Given the description of an element on the screen output the (x, y) to click on. 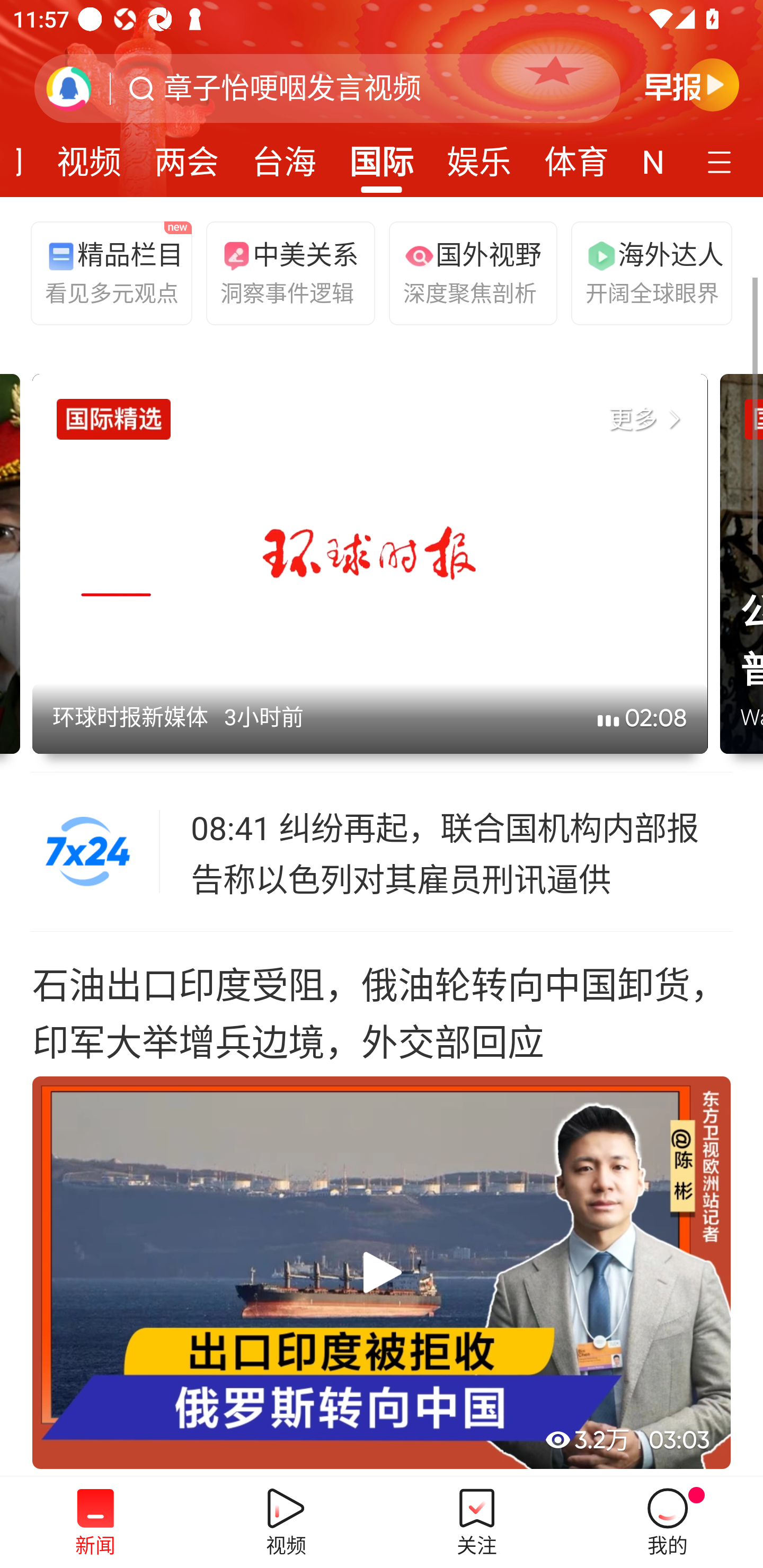
早晚报 (691, 84)
刷新 (68, 88)
章子怡哽咽发言视频 (292, 88)
视频 (89, 155)
两会 (186, 155)
台海 (283, 155)
国际 (381, 155)
娱乐 (478, 155)
体育 (575, 155)
 定制频道 (721, 160)
精品栏目 看见多元观点 (106, 272)
中美关系 洞察事件逻辑 (282, 272)
国外视野 深度聚焦剖析 (465, 272)
海外达人 开阔全球眼界 (647, 272)
更多  (648, 419)
08:41 纠纷再起，联合国机构内部报告称以色列对其雇员刑讯逼供 (461, 852)
石油出口印度受阻，俄油轮转向中国卸货，印军大举增兵边境，外交部回应  3.2万 03:03 (381, 1204)
